Given the description of an element on the screen output the (x, y) to click on. 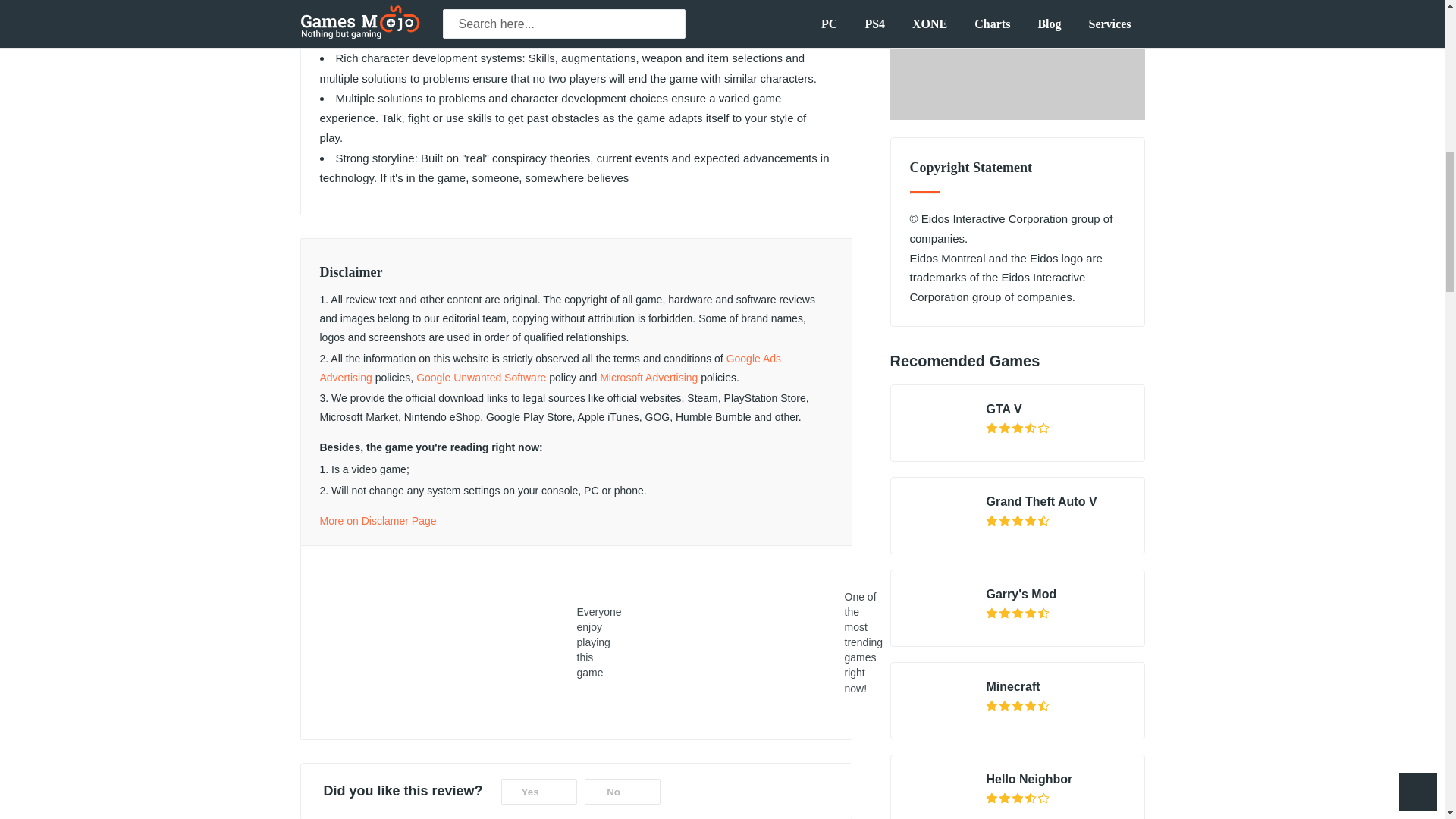
Microsoft Advertising (648, 377)
Yes (538, 791)
Google Ads Advertising (550, 368)
More on Disclamer Page (378, 520)
No (623, 791)
Google Unwanted Software (481, 377)
